Given the description of an element on the screen output the (x, y) to click on. 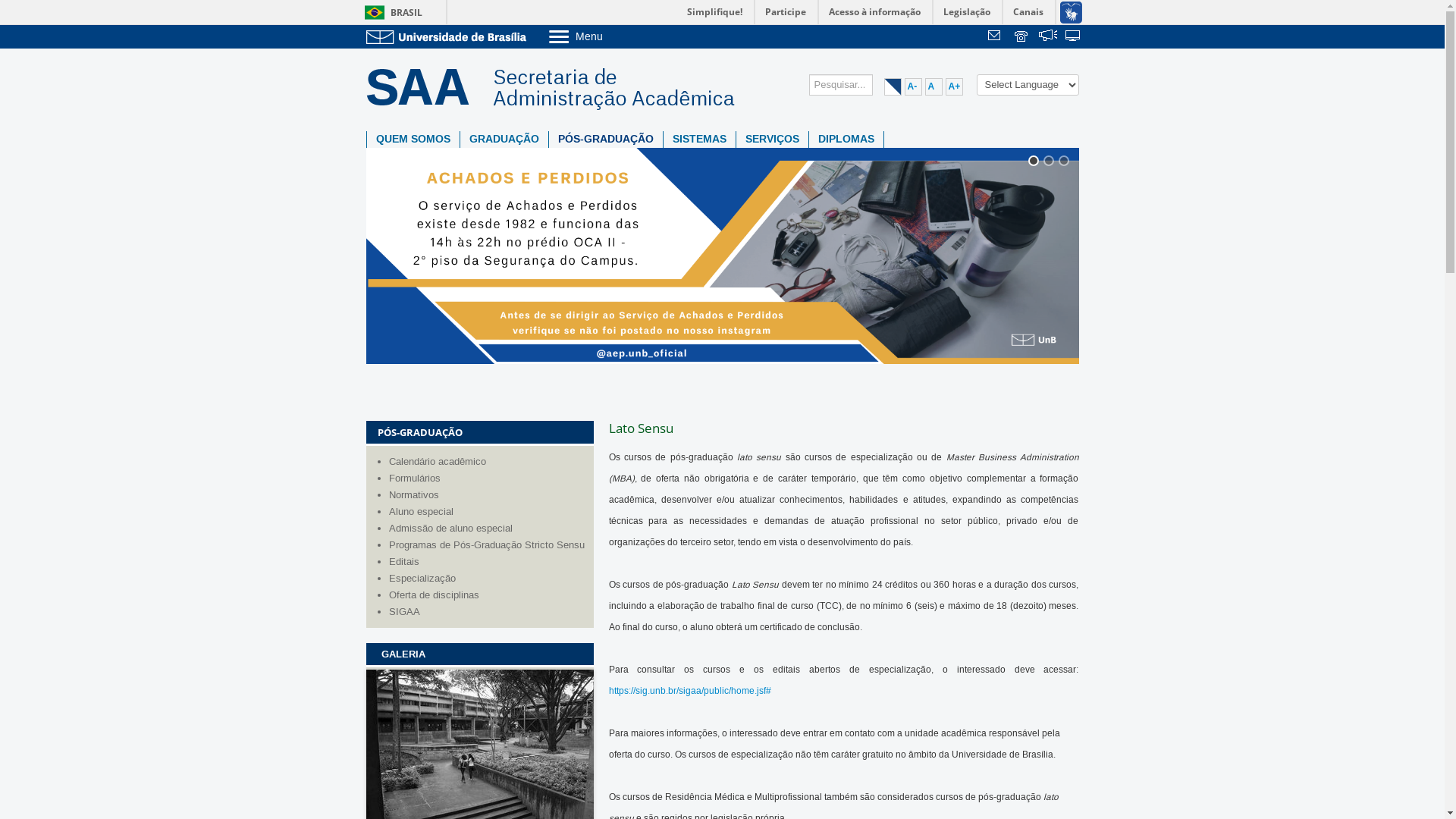
Oferta de disciplinas Element type: text (486, 594)
DIPLOMAS Element type: text (845, 139)
A Element type: text (933, 86)
QUEM SOMOS Element type: text (413, 139)
Aluno especial Element type: text (486, 511)
Editais Element type: text (486, 561)
  Element type: text (1073, 37)
Sistemas Element type: hover (1073, 37)
Ir para o Portal da UnB Element type: hover (448, 36)
Menu Element type: text (613, 35)
BRASIL Element type: text (389, 12)
SIGAA Element type: text (486, 611)
Webmail Element type: hover (996, 37)
Fala.BR Element type: hover (1047, 37)
https://sig.unb.br/sigaa/public/home.jsf# Element type: text (689, 690)
A- Element type: text (912, 86)
SISTEMAS Element type: text (698, 139)
  Element type: text (1022, 37)
Telefones da UnB Element type: hover (1022, 37)
  Element type: text (996, 37)
Normativos Element type: text (486, 494)
A+ Element type: text (953, 86)
  Element type: text (1047, 37)
